Given the description of an element on the screen output the (x, y) to click on. 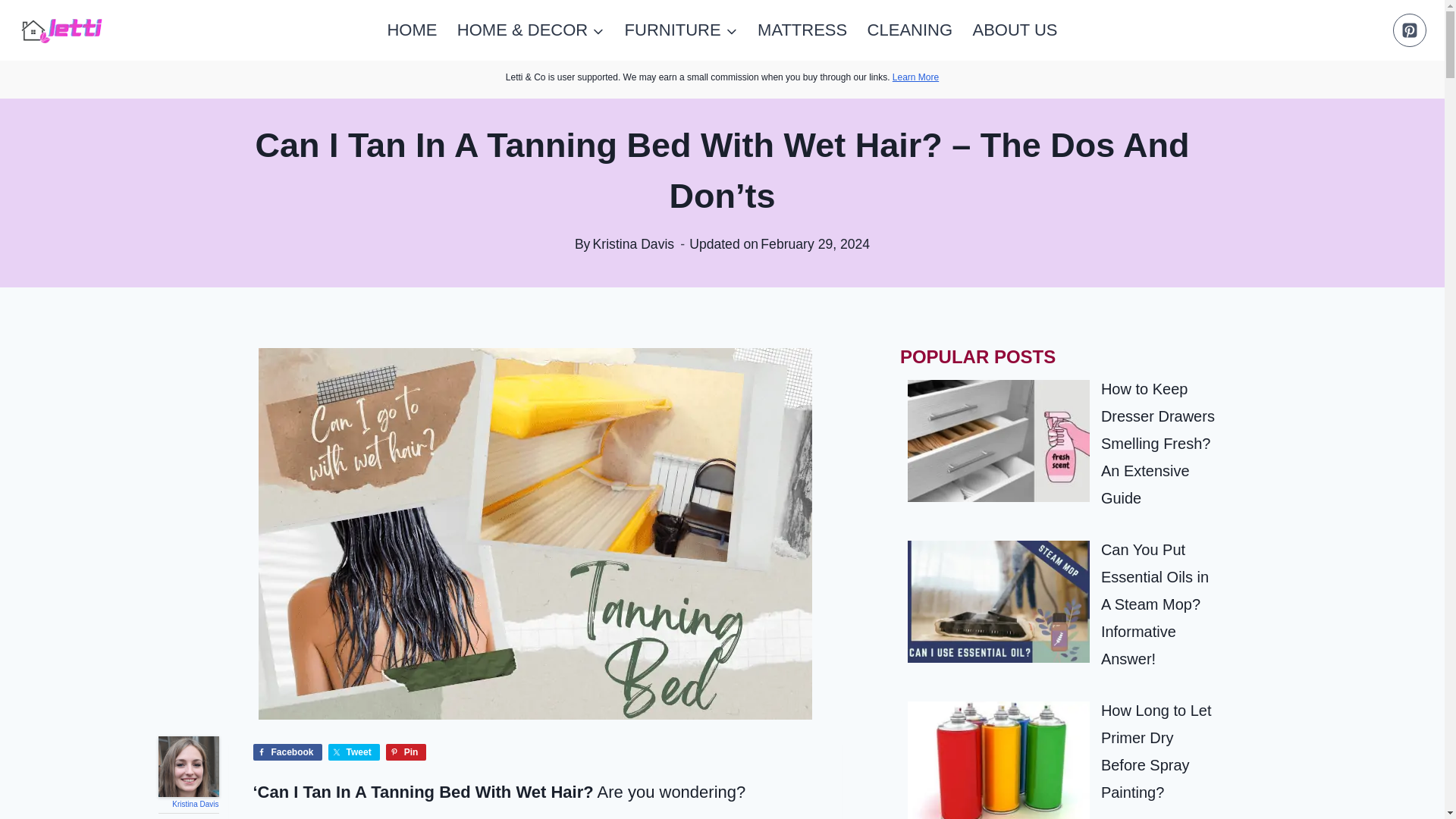
Learn More (915, 77)
Facebook (287, 751)
Kristina Davis (194, 804)
CLEANING (909, 30)
FURNITURE (680, 30)
Share on Twitter (354, 751)
Share on Pinterest (405, 751)
HOME (411, 30)
Kristina Davis (187, 766)
Pin (405, 751)
